Given the description of an element on the screen output the (x, y) to click on. 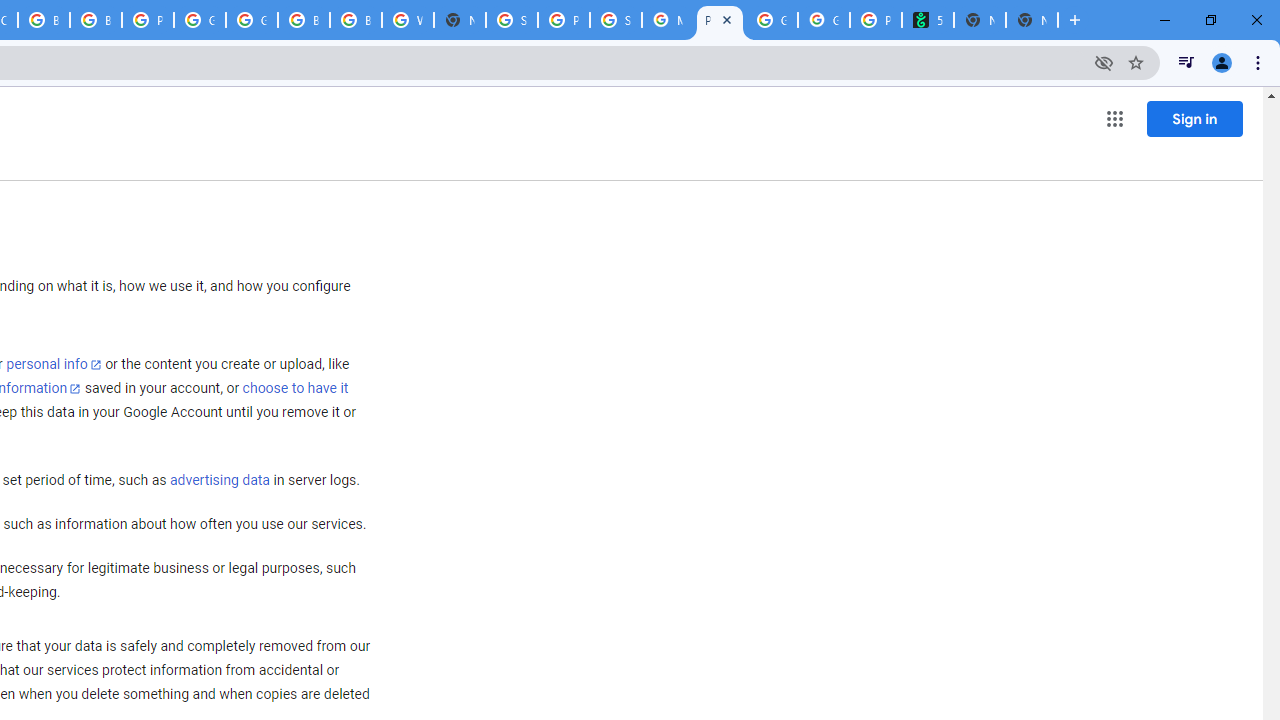
Browse Chrome as a guest - Computer - Google Chrome Help (95, 20)
personal info (54, 364)
Sign in (1194, 118)
New Tab (1032, 20)
Google Cloud Platform (251, 20)
Sign in - Google Accounts (511, 20)
Google apps (1114, 118)
Third-party cookies blocked (1103, 62)
advertising data (219, 481)
